Given the description of an element on the screen output the (x, y) to click on. 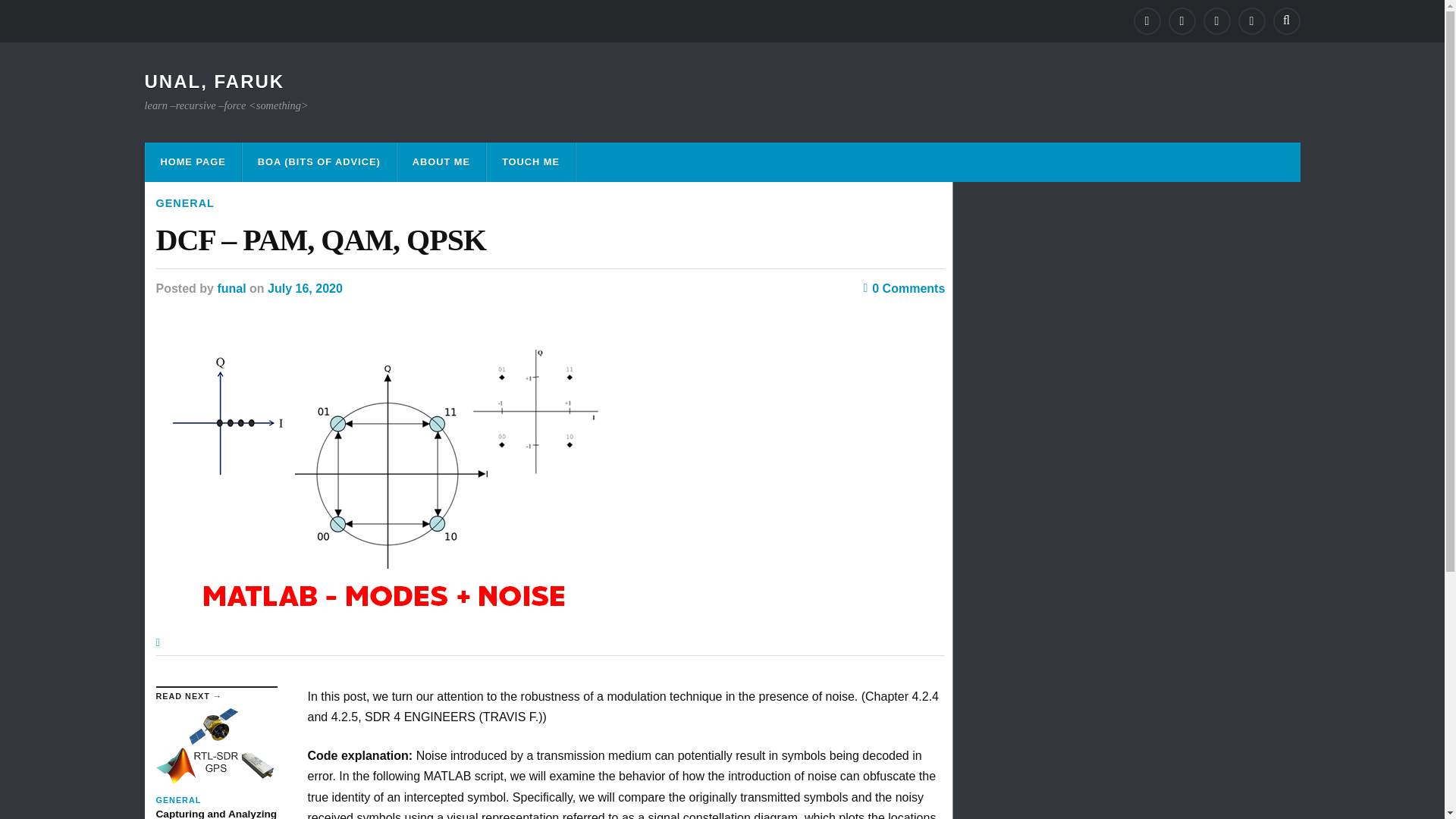
GENERAL (184, 203)
TOUCH ME (530, 162)
ABOUT ME (440, 162)
UNAL, FARUK (213, 81)
HOME PAGE (193, 162)
